Given the description of an element on the screen output the (x, y) to click on. 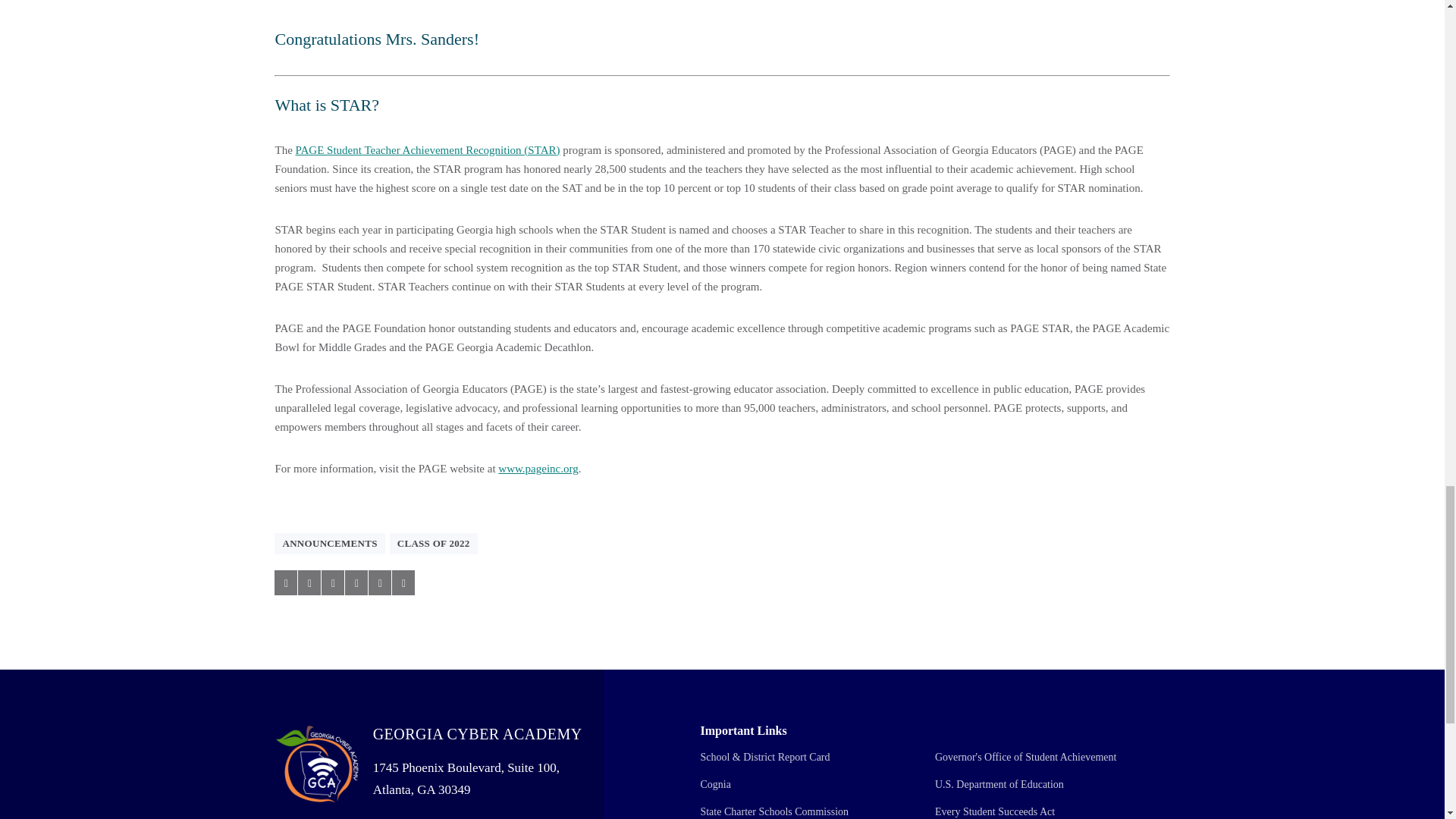
Print this page (402, 582)
Share to Email (379, 582)
Share to Pinterest (356, 582)
Share to Facebook (286, 582)
Share to Twitter (309, 582)
Share to LinkedIn (332, 582)
